Given the description of an element on the screen output the (x, y) to click on. 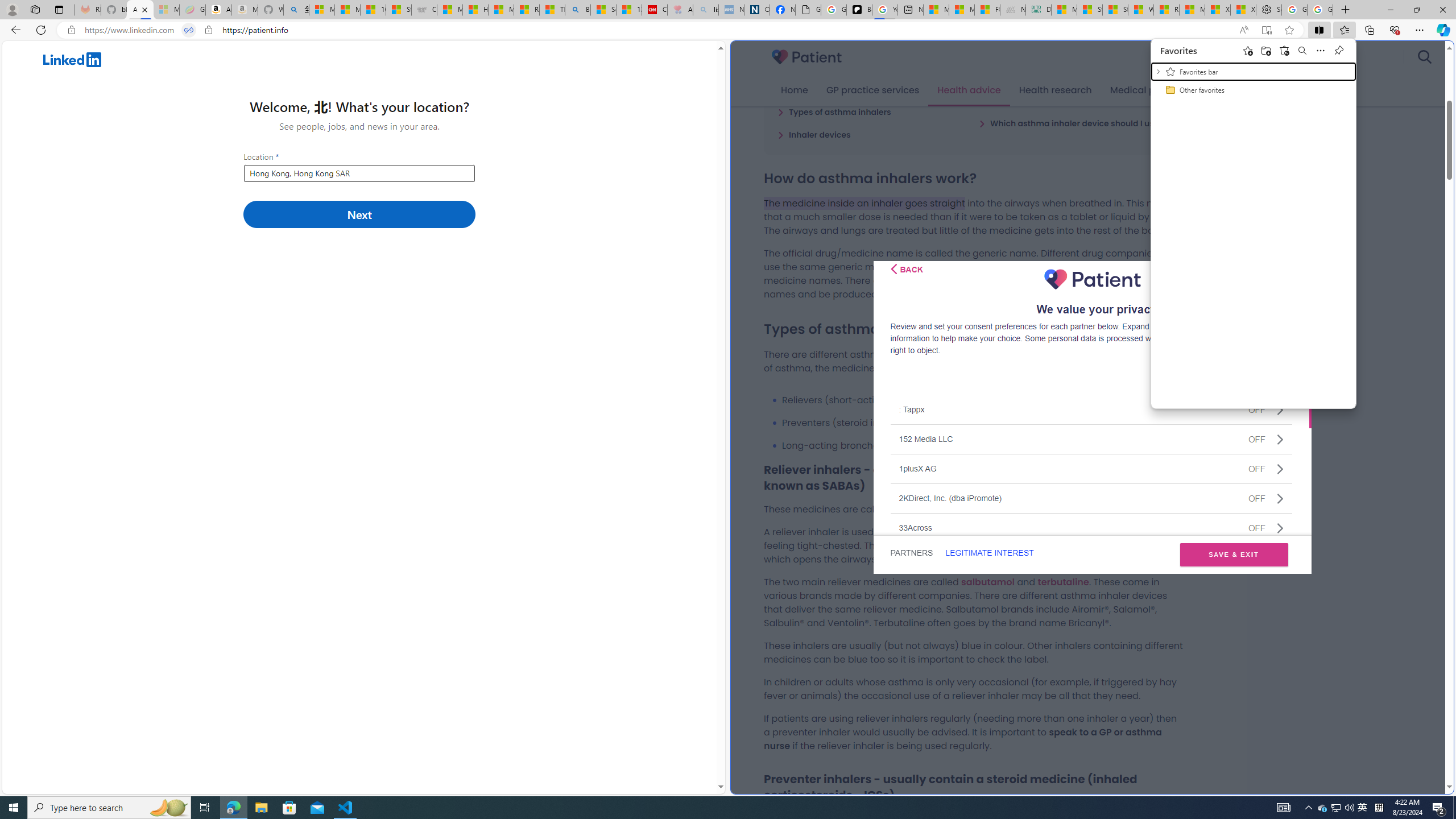
SAVE & EXIT (1233, 554)
